Given the description of an element on the screen output the (x, y) to click on. 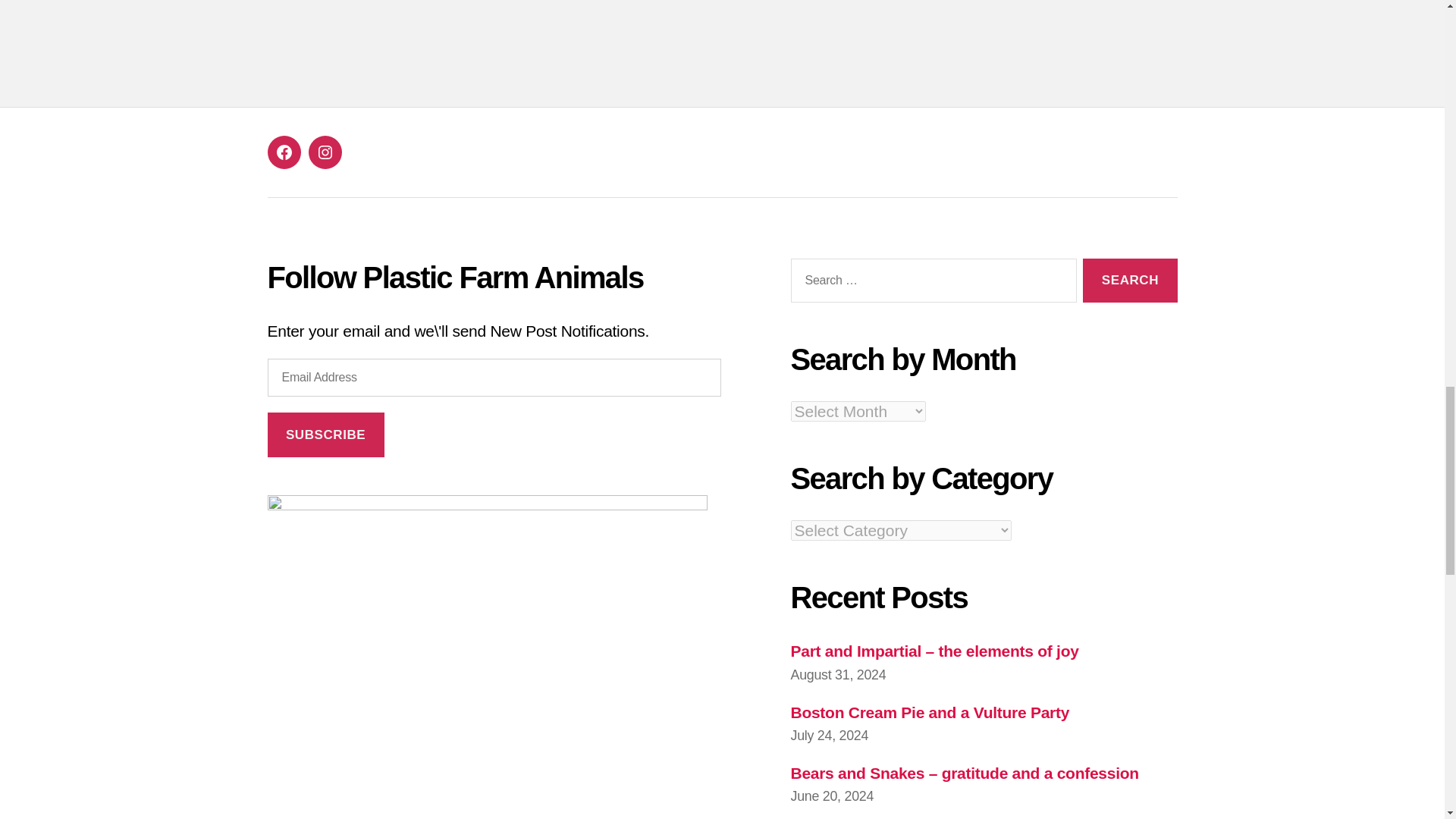
Comment Form (721, 22)
Facebook (282, 151)
Boston Cream Pie and a Vulture Party (929, 712)
Search (1129, 280)
Search (1129, 280)
Instagram (323, 151)
SUBSCRIBE (325, 434)
Search (1129, 280)
